Given the description of an element on the screen output the (x, y) to click on. 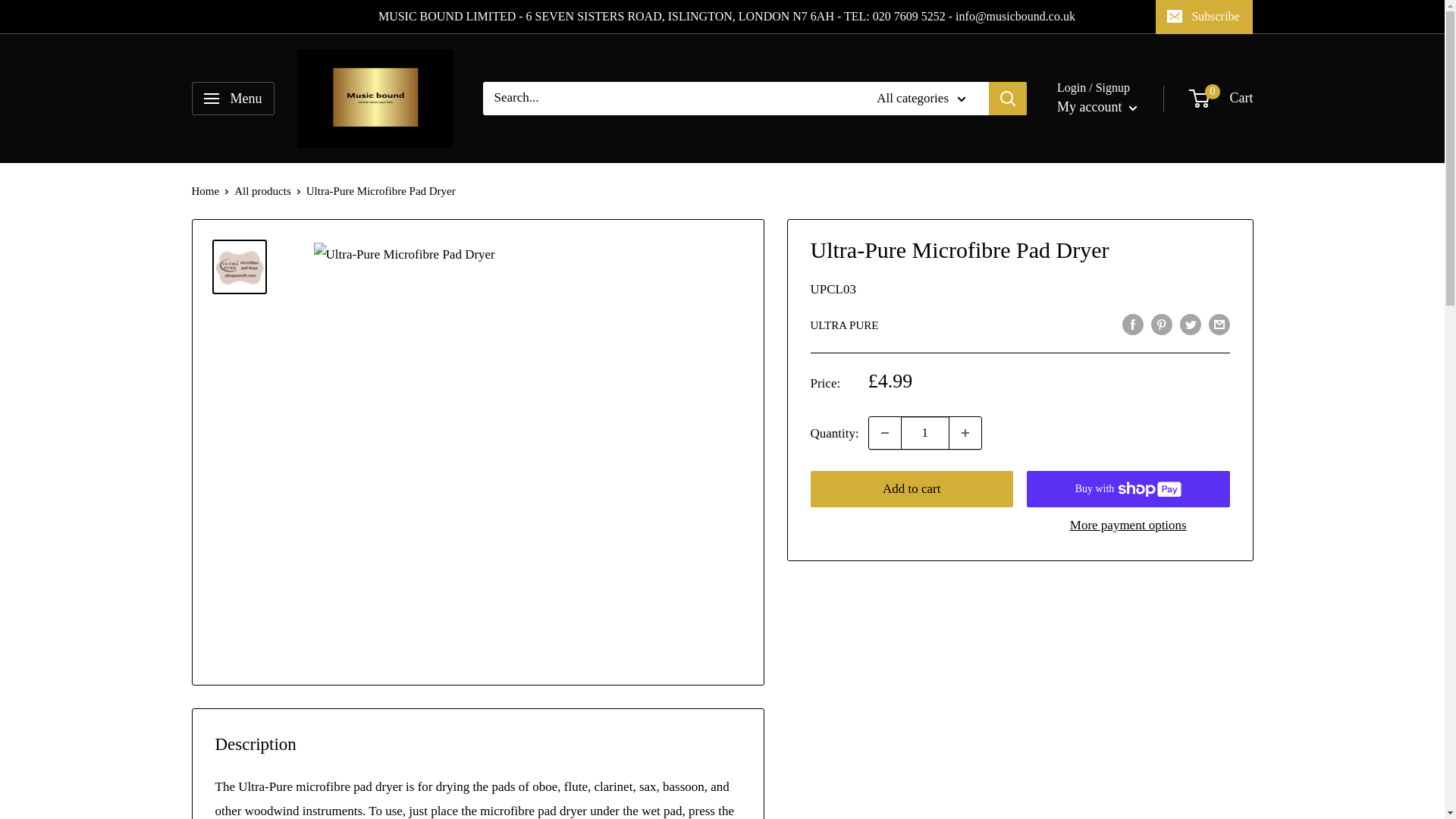
Increase quantity by 1 (965, 432)
Subscribe (1204, 16)
Decrease quantity by 1 (885, 432)
1 (925, 432)
